Given the description of an element on the screen output the (x, y) to click on. 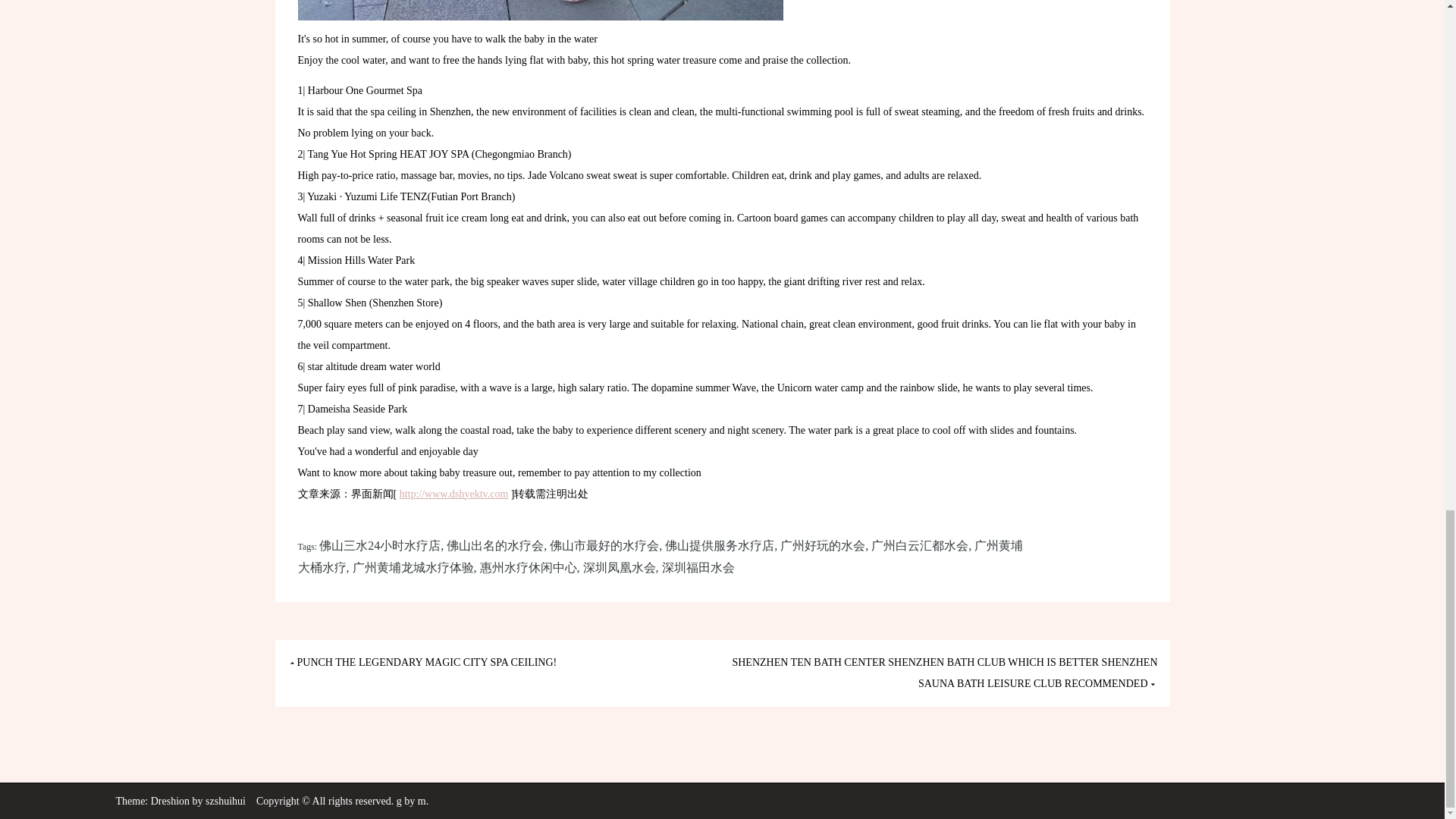
PUNCH THE LEGENDARY MAGIC CITY SPA CEILING! (421, 662)
